Given the description of an element on the screen output the (x, y) to click on. 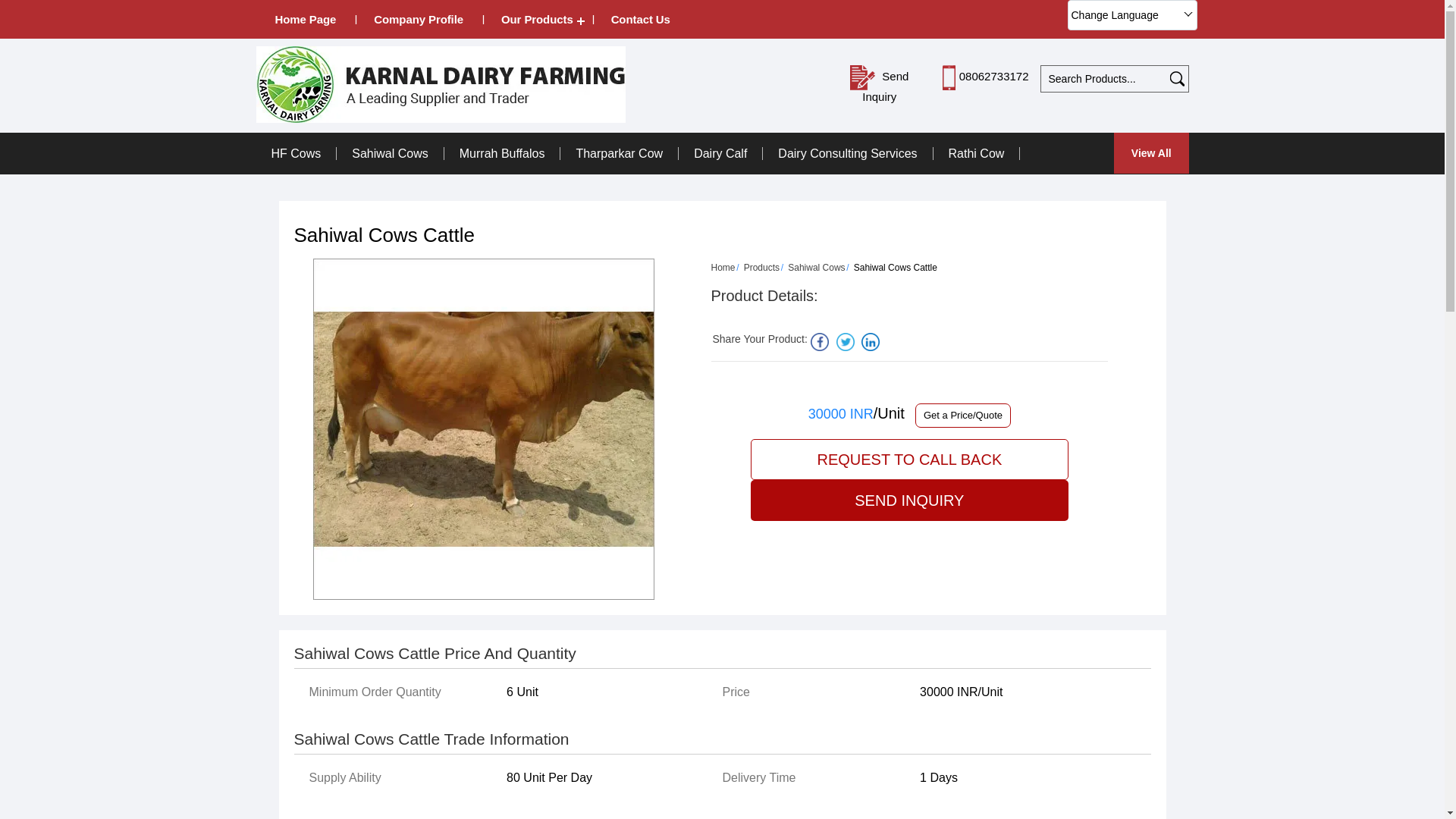
Karnal Dairy Farming (441, 83)
Contact Us (640, 19)
Our Products (536, 19)
Home Page (305, 19)
submit (1176, 78)
Send Inquiry (862, 77)
Company Profile (418, 19)
Search (1176, 78)
Search Products... (1105, 78)
